Given the description of an element on the screen output the (x, y) to click on. 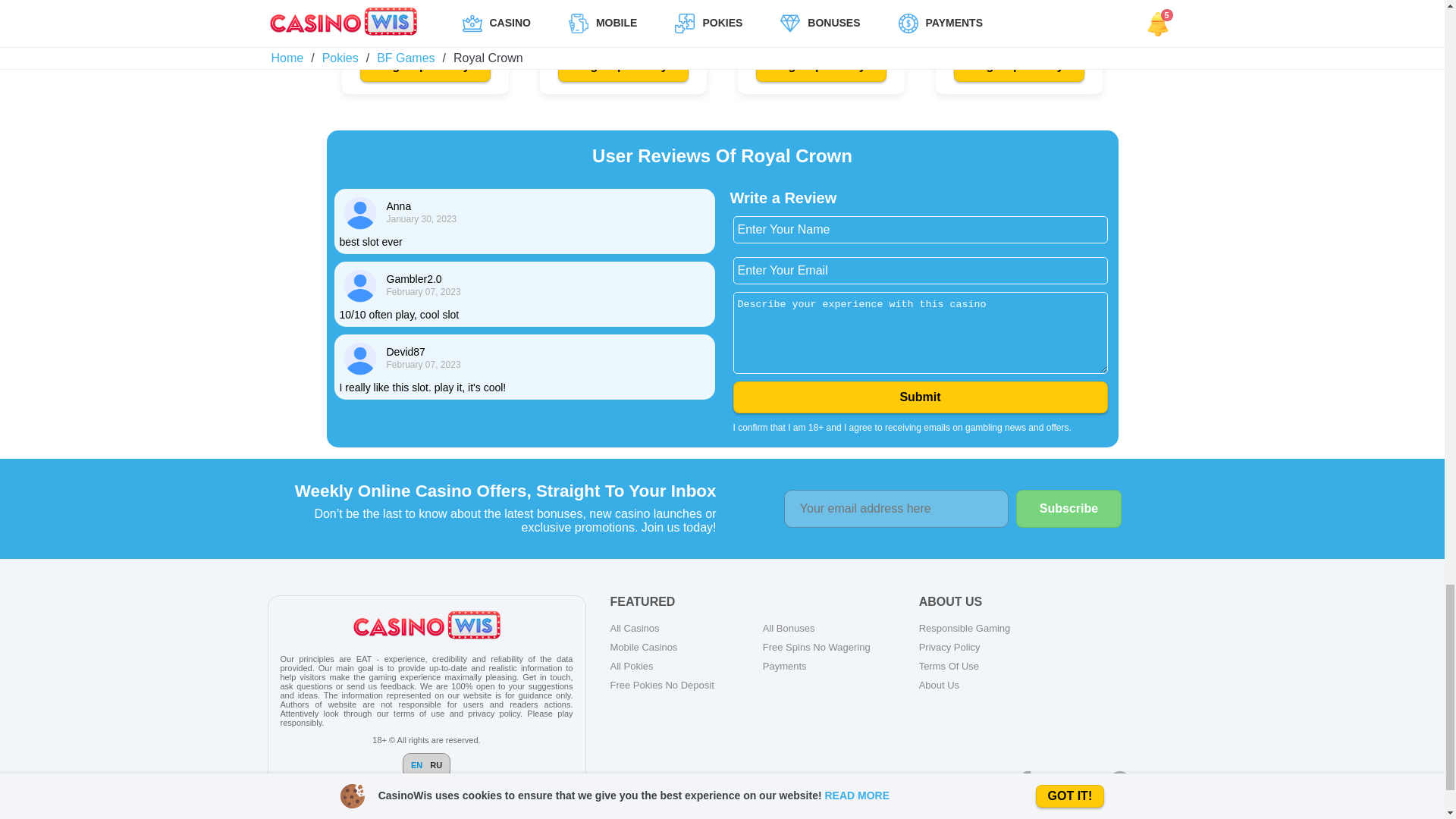
Youtube (1087, 783)
pinterest (1119, 783)
Twitter (1056, 783)
Facebook (1025, 783)
